Given the description of an element on the screen output the (x, y) to click on. 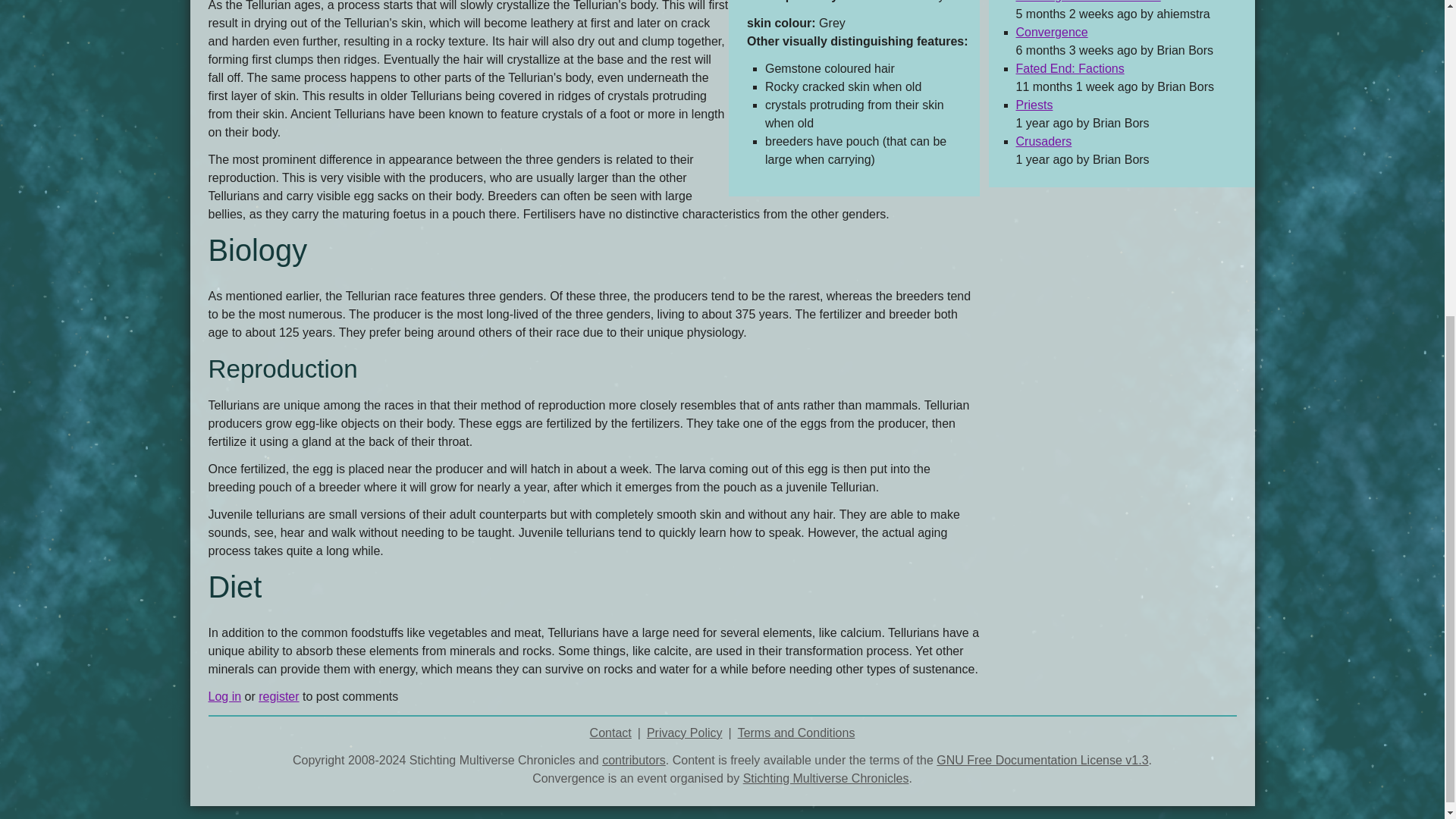
GNU Free Documentation License v1.3 (1042, 759)
Terms and Conditions (797, 732)
Log in (224, 696)
contributors (633, 759)
register (278, 696)
Stichting Multiverse Chronicles (825, 778)
Convergence 1: Fated End (1088, 1)
Priests (1034, 104)
Convergence (1051, 31)
Contact (610, 732)
Privacy Policy (684, 732)
Fated End: Factions (1070, 68)
Crusaders (1043, 141)
